Given the description of an element on the screen output the (x, y) to click on. 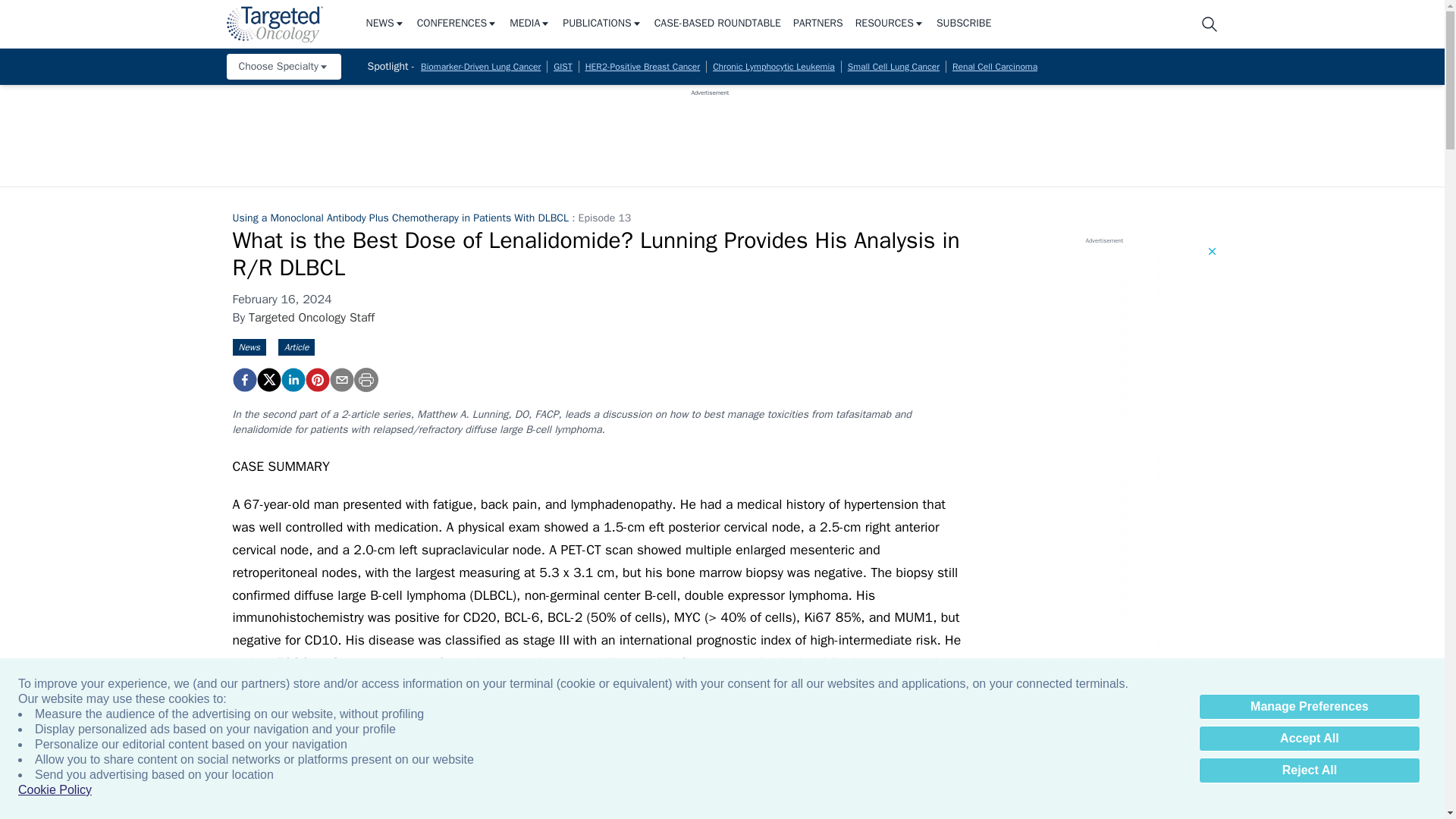
PUBLICATIONS (602, 23)
MEDIA (529, 23)
Reject All (1309, 769)
Manage Preferences (1309, 706)
Accept All (1309, 738)
CASE-BASED ROUNDTABLE (716, 23)
CONFERENCES (456, 23)
3rd party ad content (710, 131)
Cookie Policy (54, 789)
NEWS (384, 23)
